Given the description of an element on the screen output the (x, y) to click on. 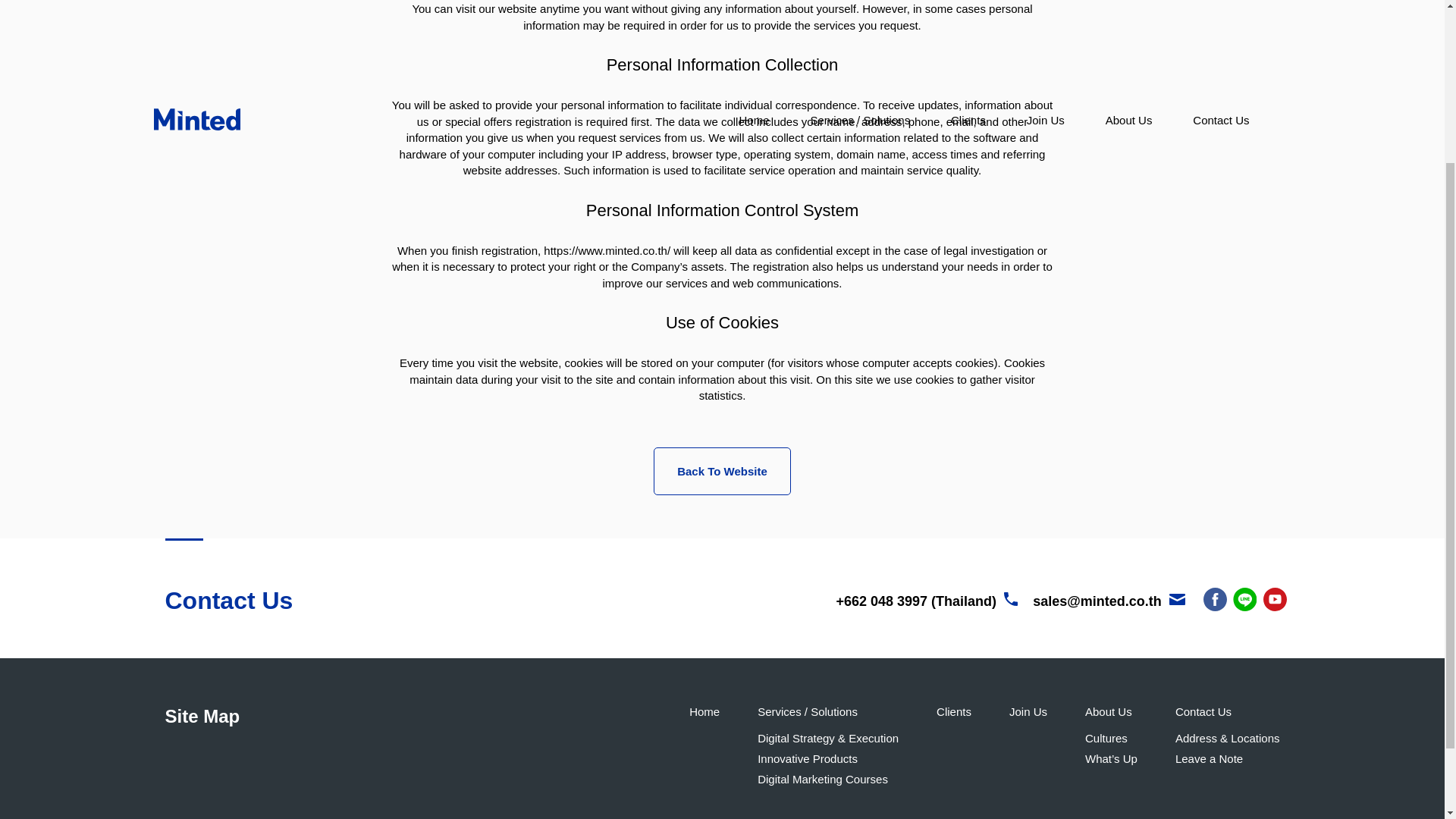
Innovative Products (807, 758)
Leave a Note (1208, 758)
Join Us (1027, 711)
Digital Marketing Courses (822, 779)
Contact Us (1202, 711)
Back To Website (721, 471)
Clients (953, 711)
Cultures (1105, 738)
About Us (1108, 711)
Home (703, 711)
